Given the description of an element on the screen output the (x, y) to click on. 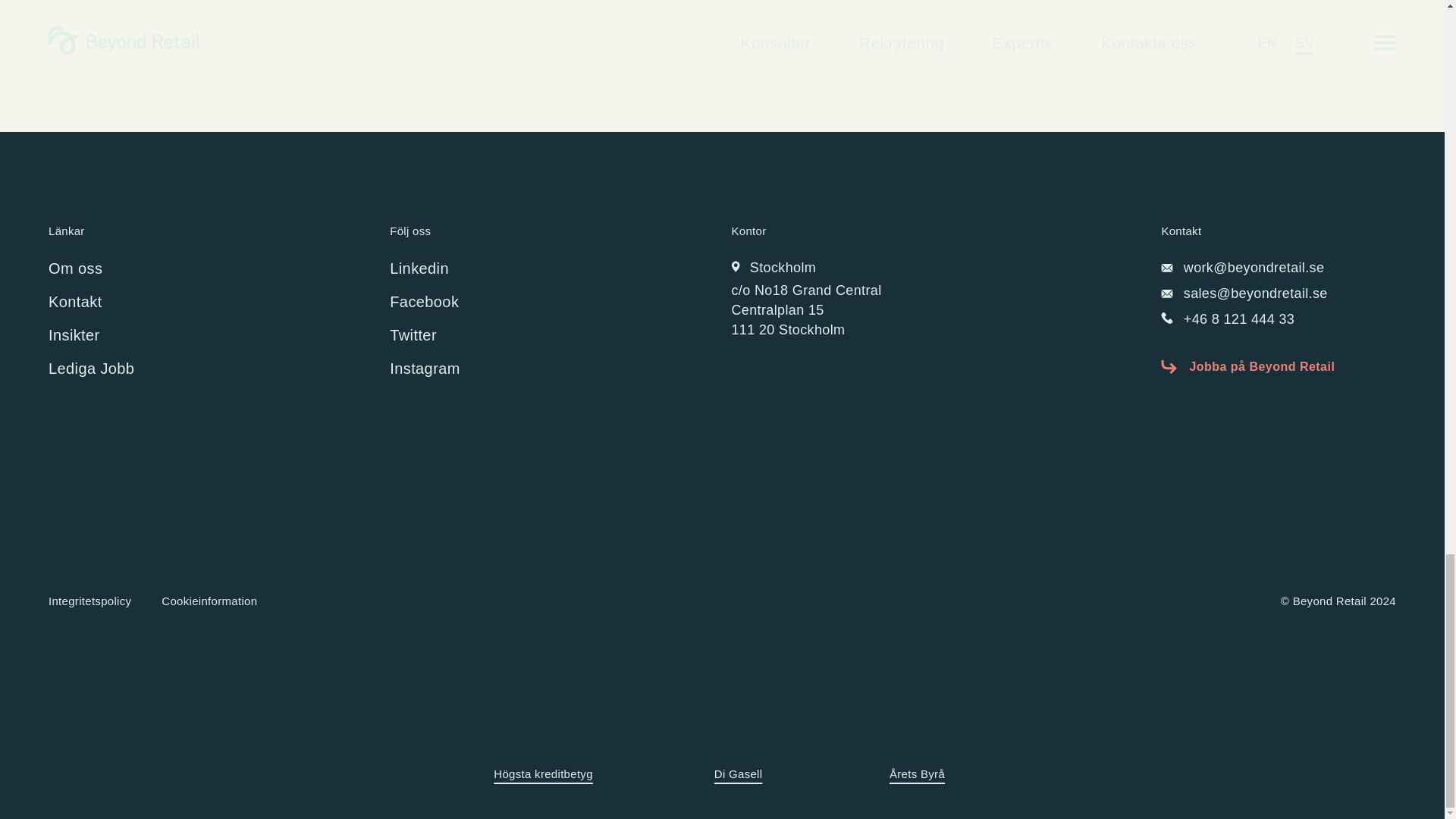
Kontakt (74, 301)
Insikter (74, 334)
Om oss (74, 268)
Linkedin (419, 268)
Lediga Jobb (90, 368)
